Given the description of an element on the screen output the (x, y) to click on. 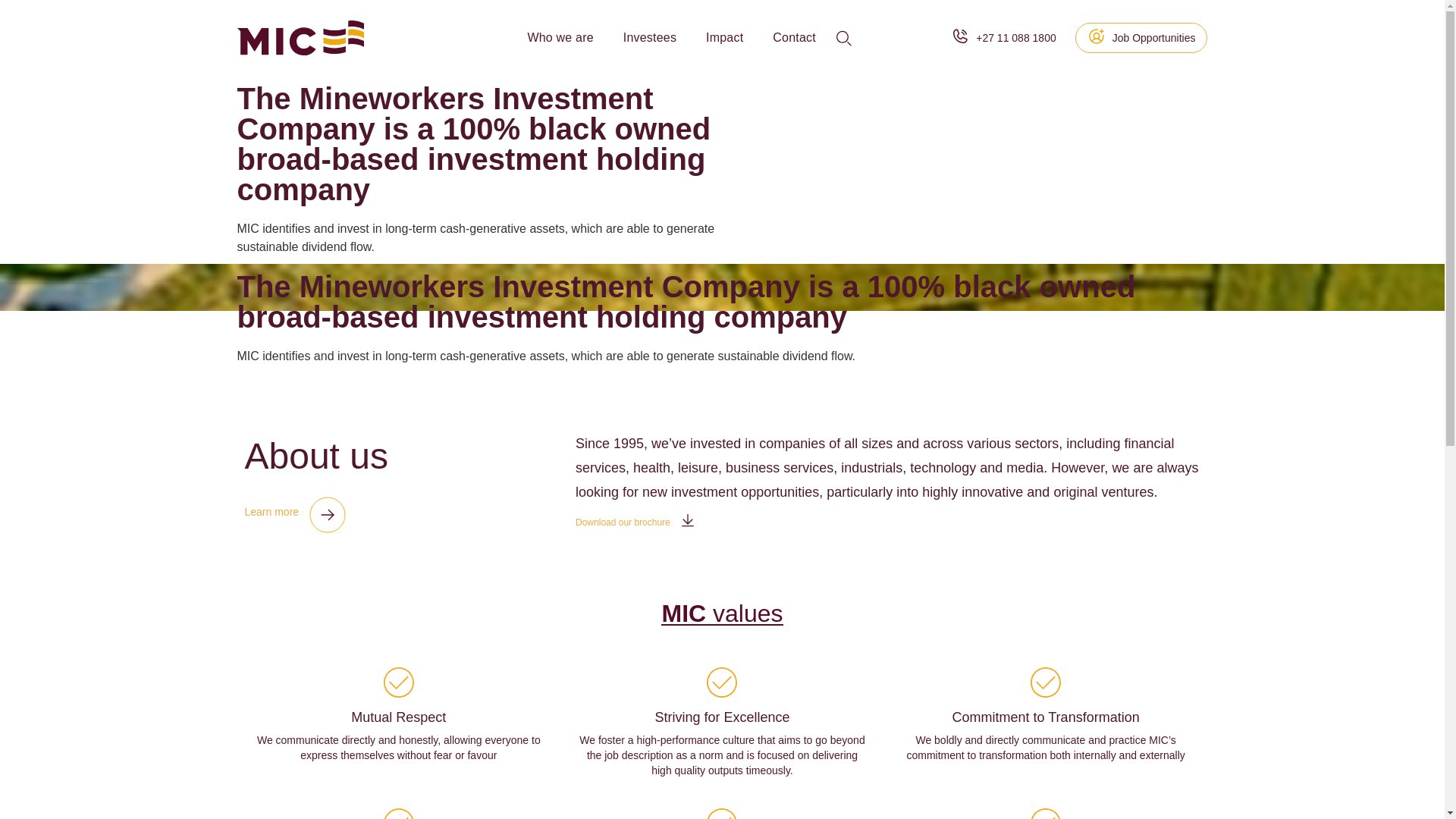
Who we are (559, 38)
Contact (794, 38)
Investees (650, 38)
Job Opportunities (1141, 37)
Impact (724, 38)
